Given the description of an element on the screen output the (x, y) to click on. 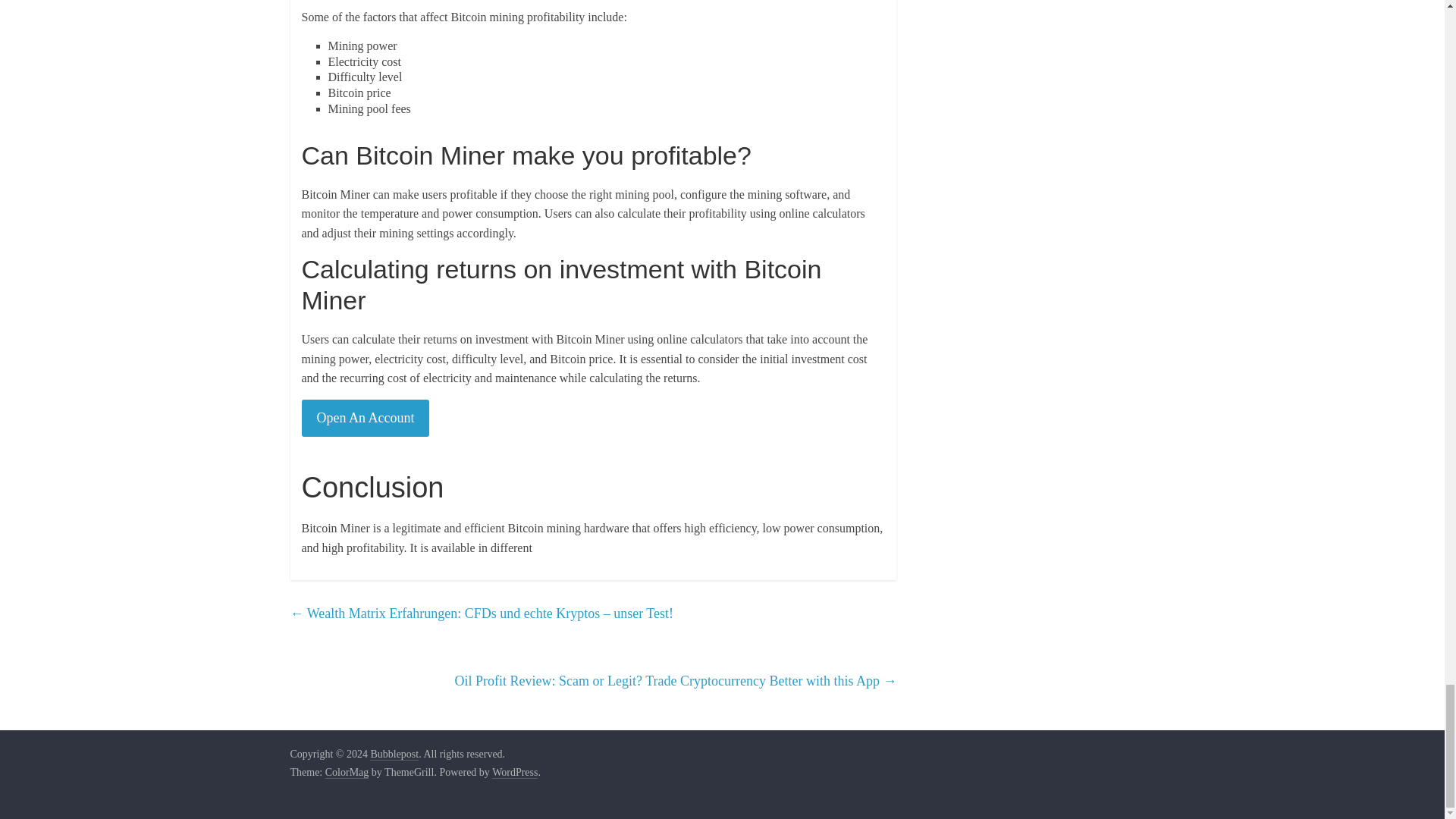
Open An Account (365, 417)
ColorMag (346, 772)
WordPress (514, 772)
Bubblepost (394, 754)
Open An Account (365, 418)
